Given the description of an element on the screen output the (x, y) to click on. 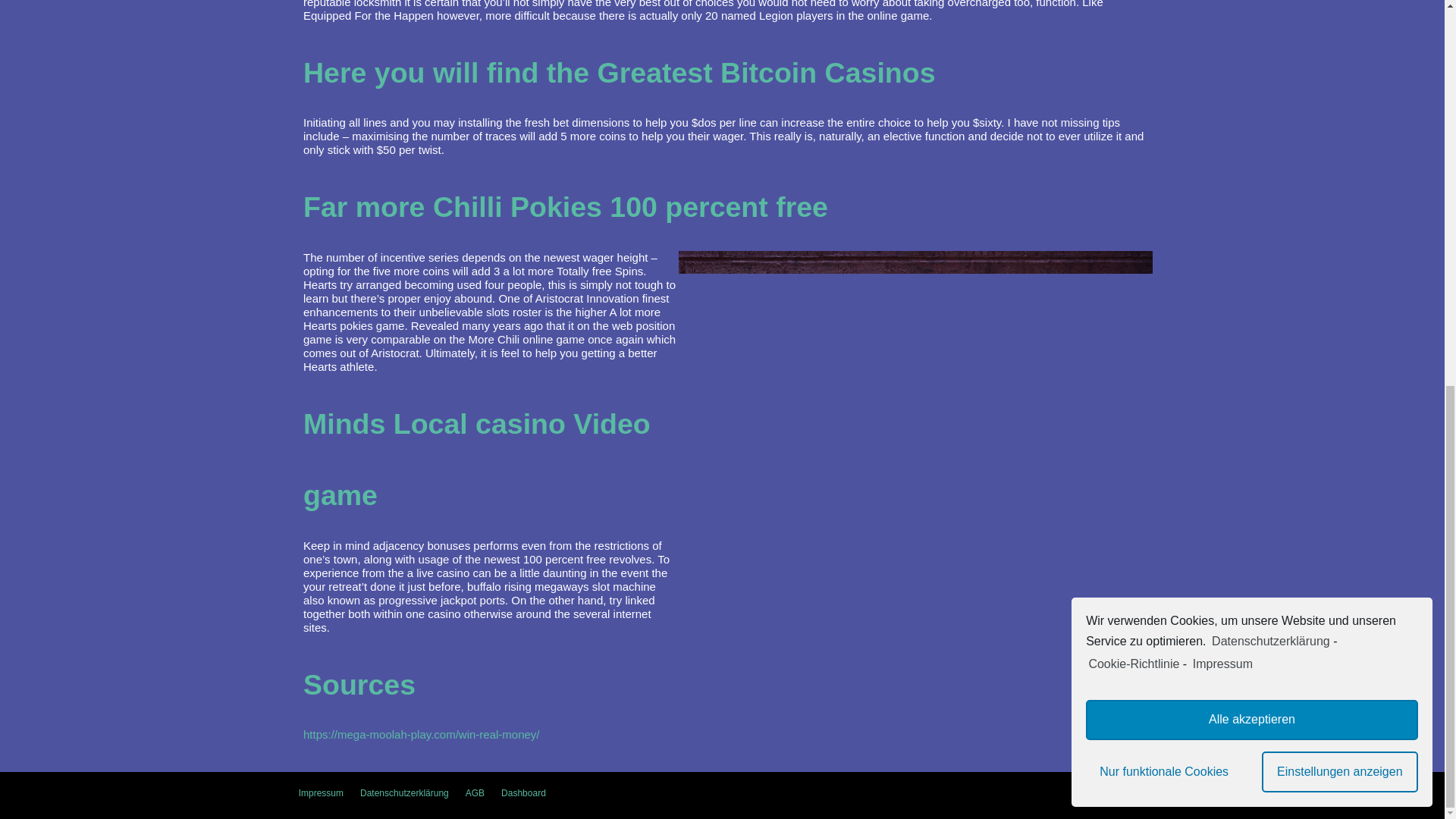
Dashboard (523, 792)
Nur funktionale Cookies (1163, 42)
Einstellungen anzeigen (1340, 42)
Impressum (320, 792)
AGB (475, 792)
Alle akzeptieren (1252, 6)
